Given the description of an element on the screen output the (x, y) to click on. 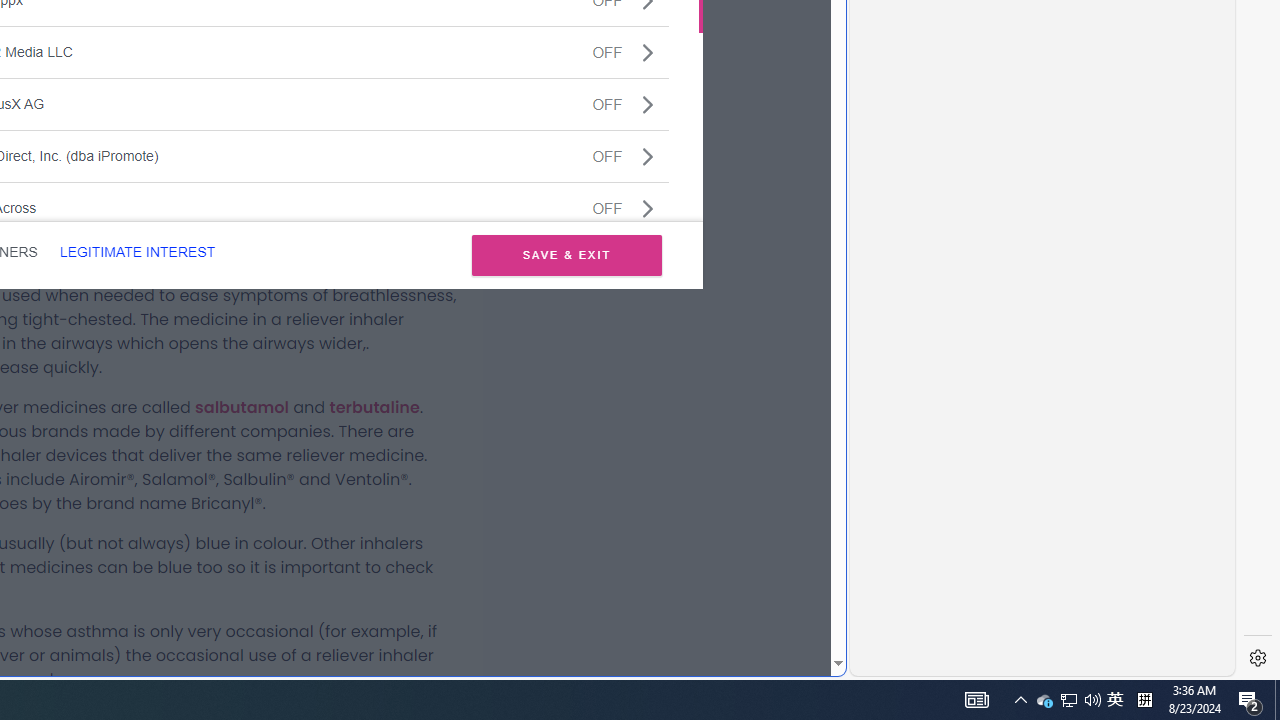
SAVE & EXIT (566, 254)
terbutaline (373, 407)
Class: css-jswnc6 (648, 208)
LEGITIMATE INTEREST (137, 251)
salbutamol (241, 407)
